Given the description of an element on the screen output the (x, y) to click on. 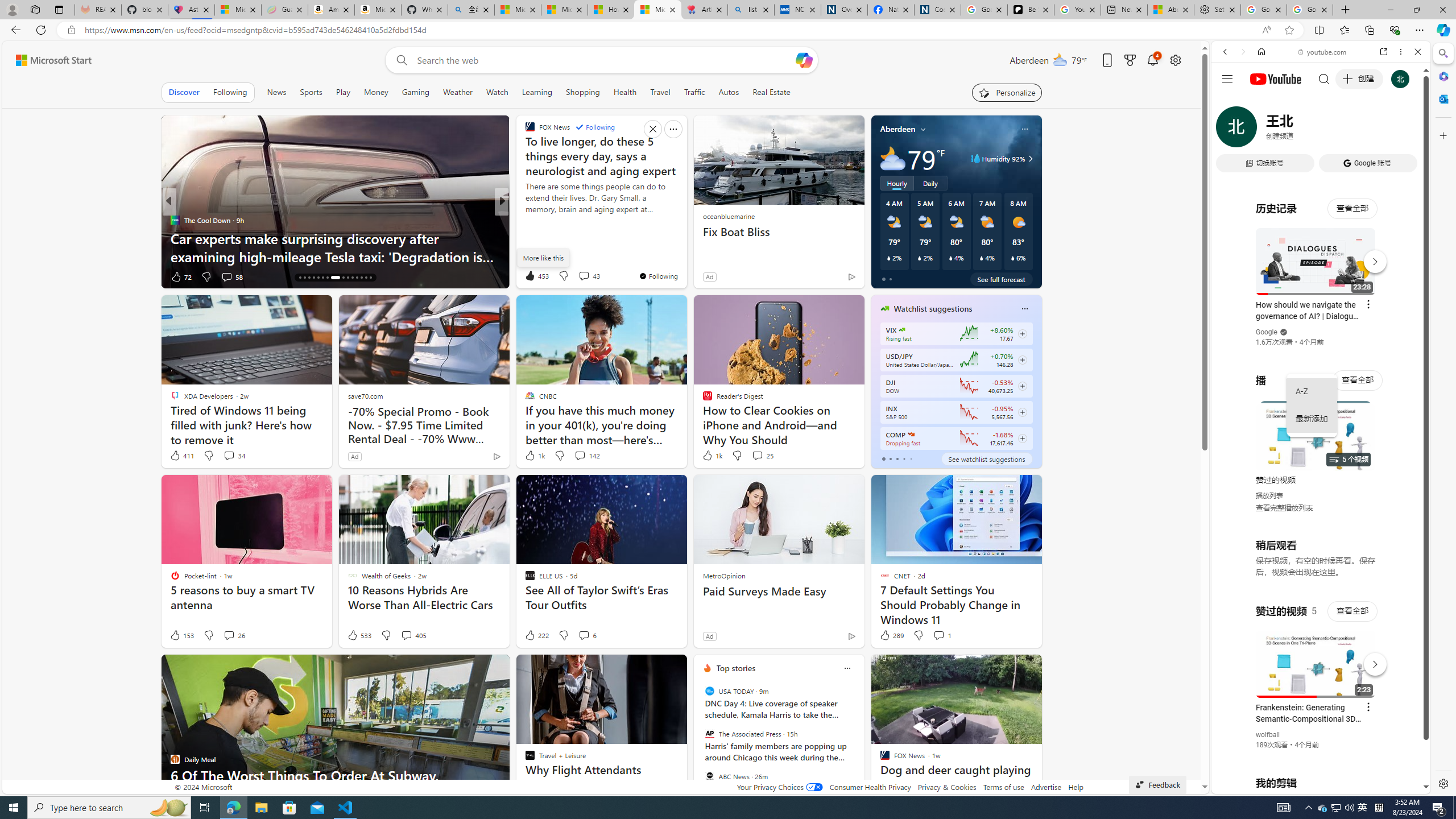
The Register (174, 219)
Paid Surveys Made Easy (778, 591)
AutomationID: tab-22 (327, 277)
View comments 7 Comment (580, 276)
Savvy Dime (524, 219)
AutomationID: tab-18 (309, 277)
CBOE Market Volatility Index (901, 329)
View comments 405 Comment (413, 634)
